Given the description of an element on the screen output the (x, y) to click on. 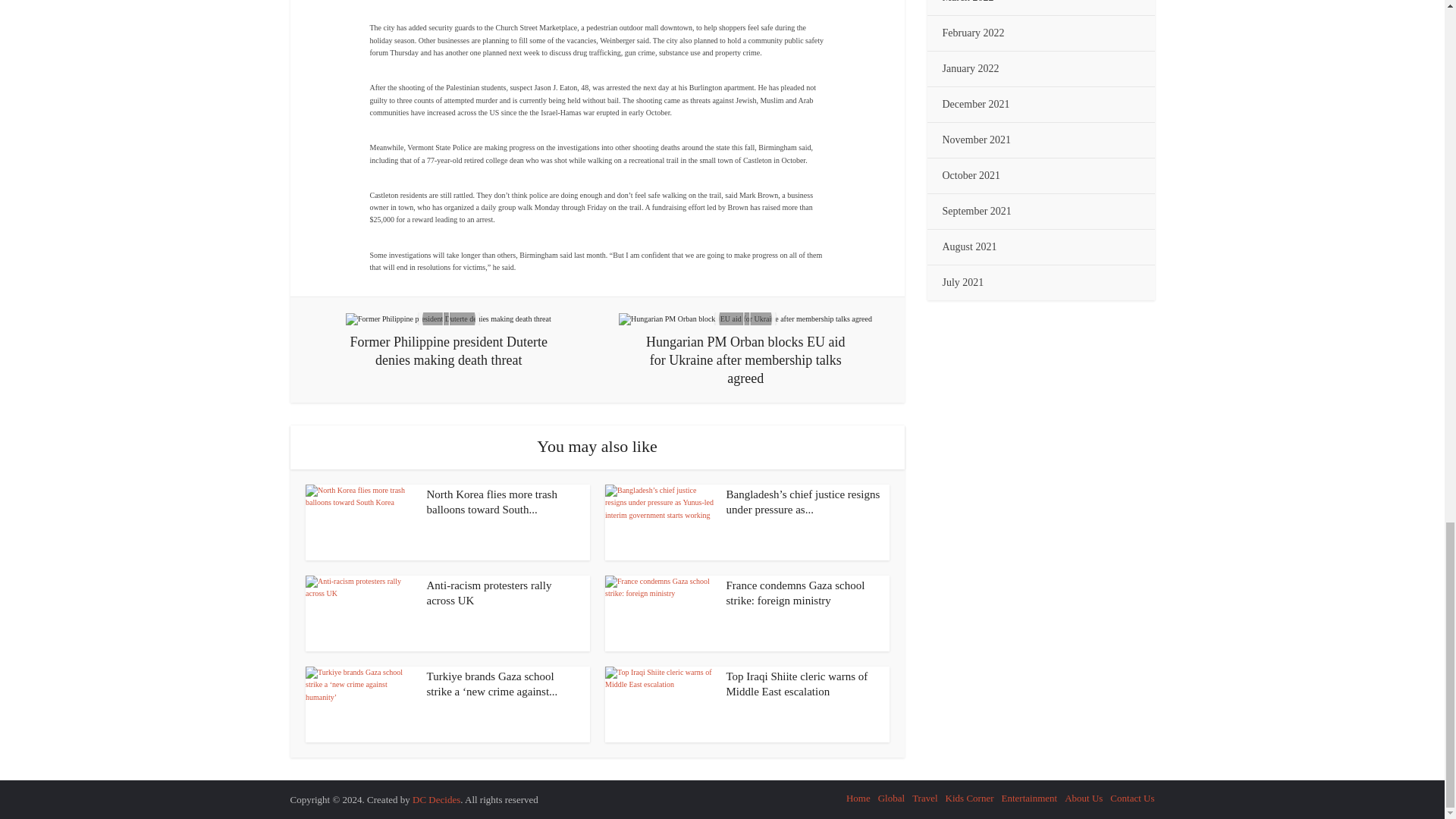
Anti-racism protesters rally across UK (359, 613)
Anti-racism protesters rally across UK (488, 592)
North Korea flies more trash balloons toward South Korea (491, 501)
North Korea flies more trash balloons toward South... (491, 501)
North Korea flies more trash balloons toward South Korea (359, 522)
